Given the description of an element on the screen output the (x, y) to click on. 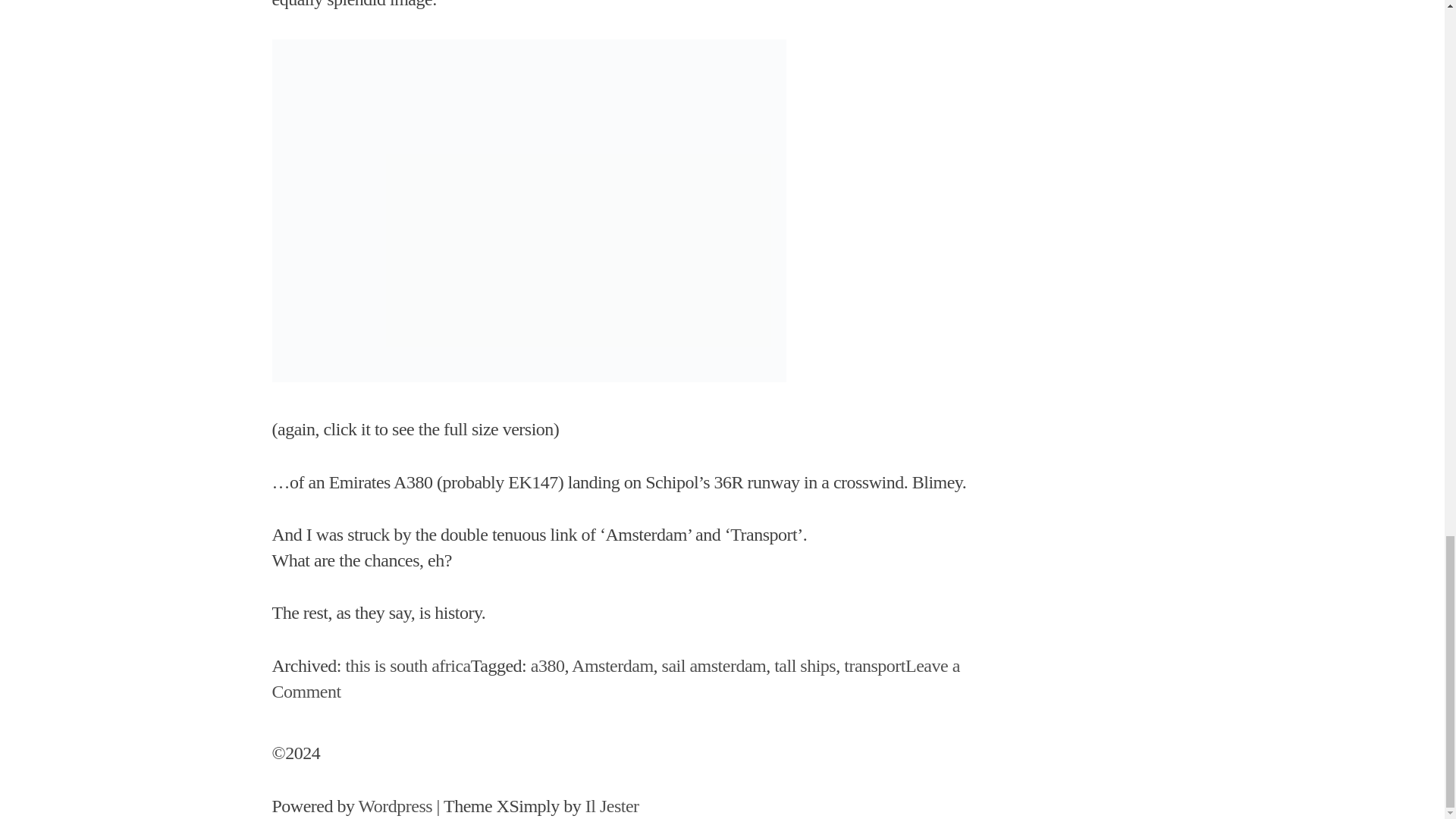
tall ships (804, 665)
sail amsterdam (714, 665)
transport (614, 678)
Amsterdam (874, 665)
this is south africa (612, 665)
a380 (407, 665)
